Given the description of an element on the screen output the (x, y) to click on. 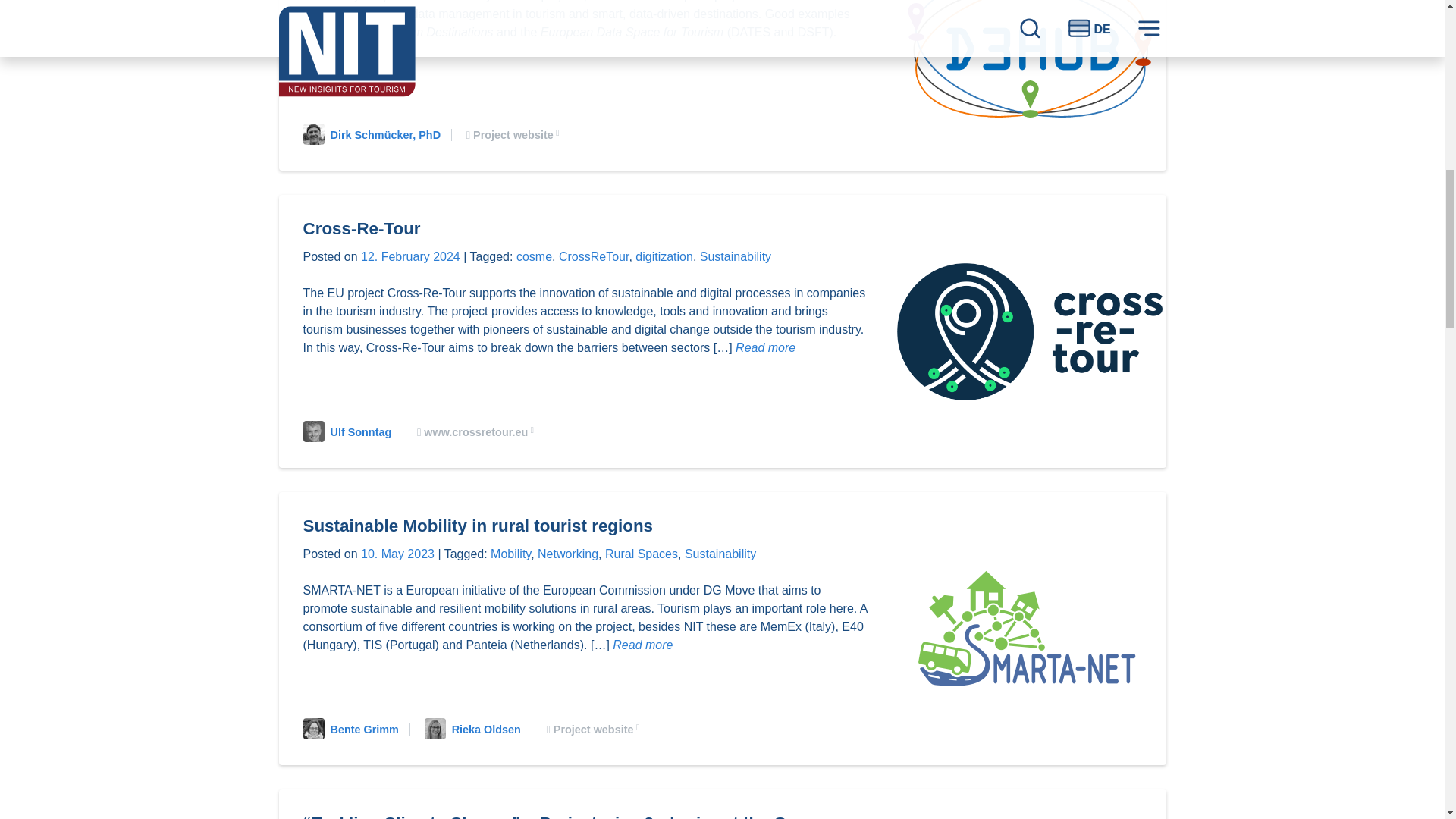
Your Contact Person: Rieka Oldsen (478, 729)
Read more (354, 50)
Your Contact Person: Ulf Sonntag (352, 431)
www.crossretour.eu (478, 431)
Project website (516, 134)
Your Contact Person: Bente Grimm (356, 729)
Read more (764, 347)
Read more (642, 644)
